Given the description of an element on the screen output the (x, y) to click on. 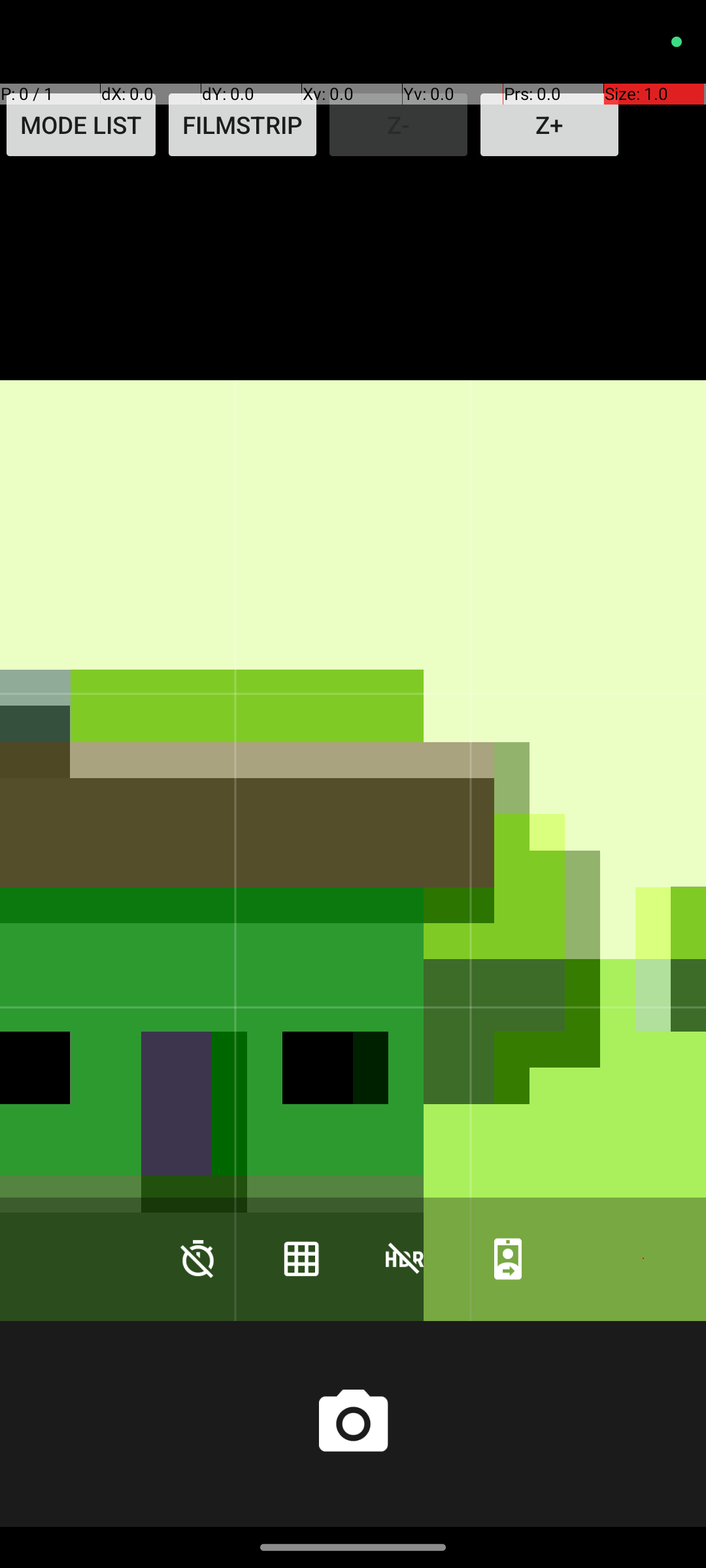
HDR off Element type: android.widget.ImageButton (404, 1258)
